Given the description of an element on the screen output the (x, y) to click on. 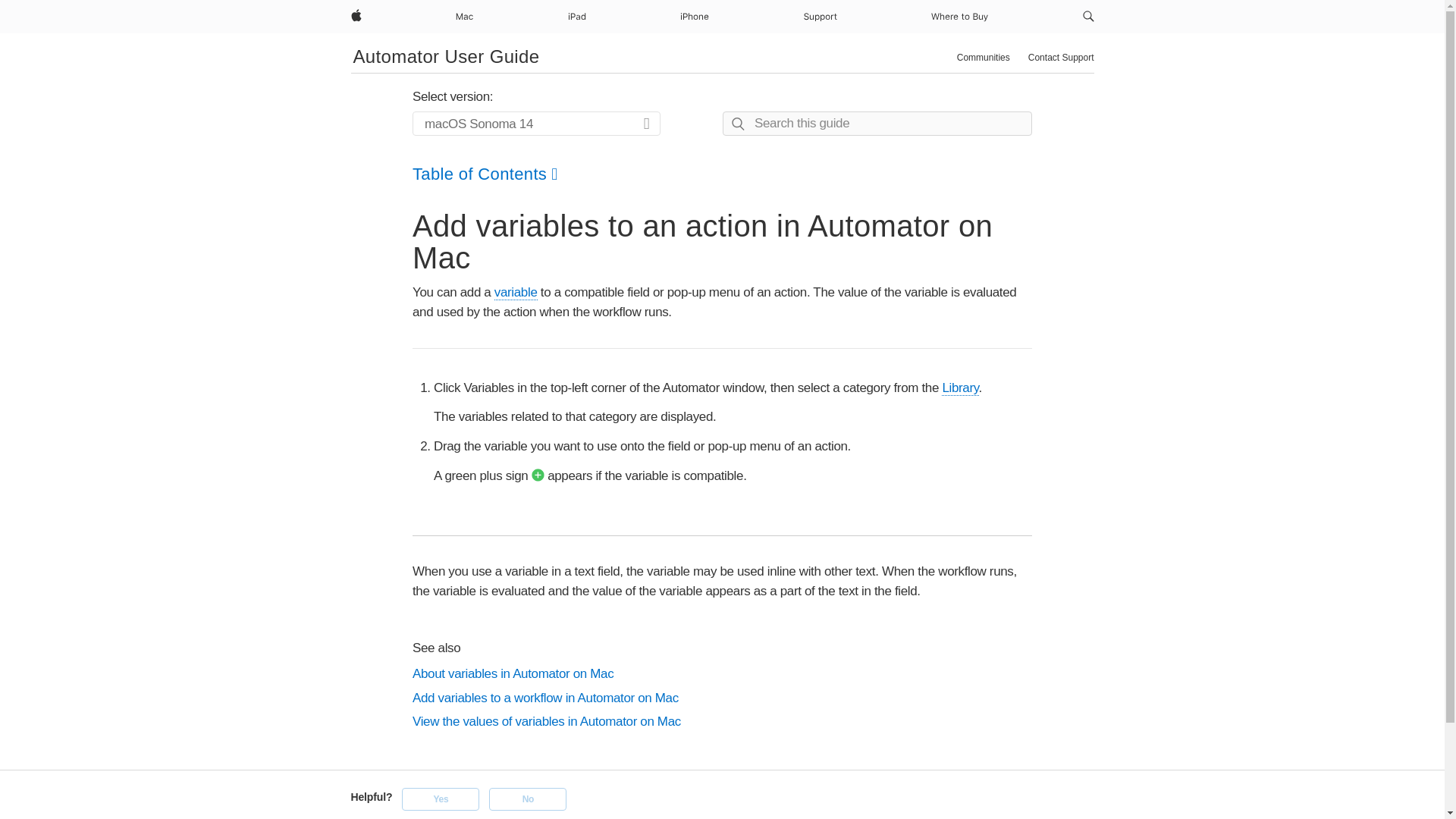
iPhone (694, 16)
Solved my problem (440, 798)
Not helpful (527, 798)
iPad (575, 16)
Support (820, 16)
